Given the description of an element on the screen output the (x, y) to click on. 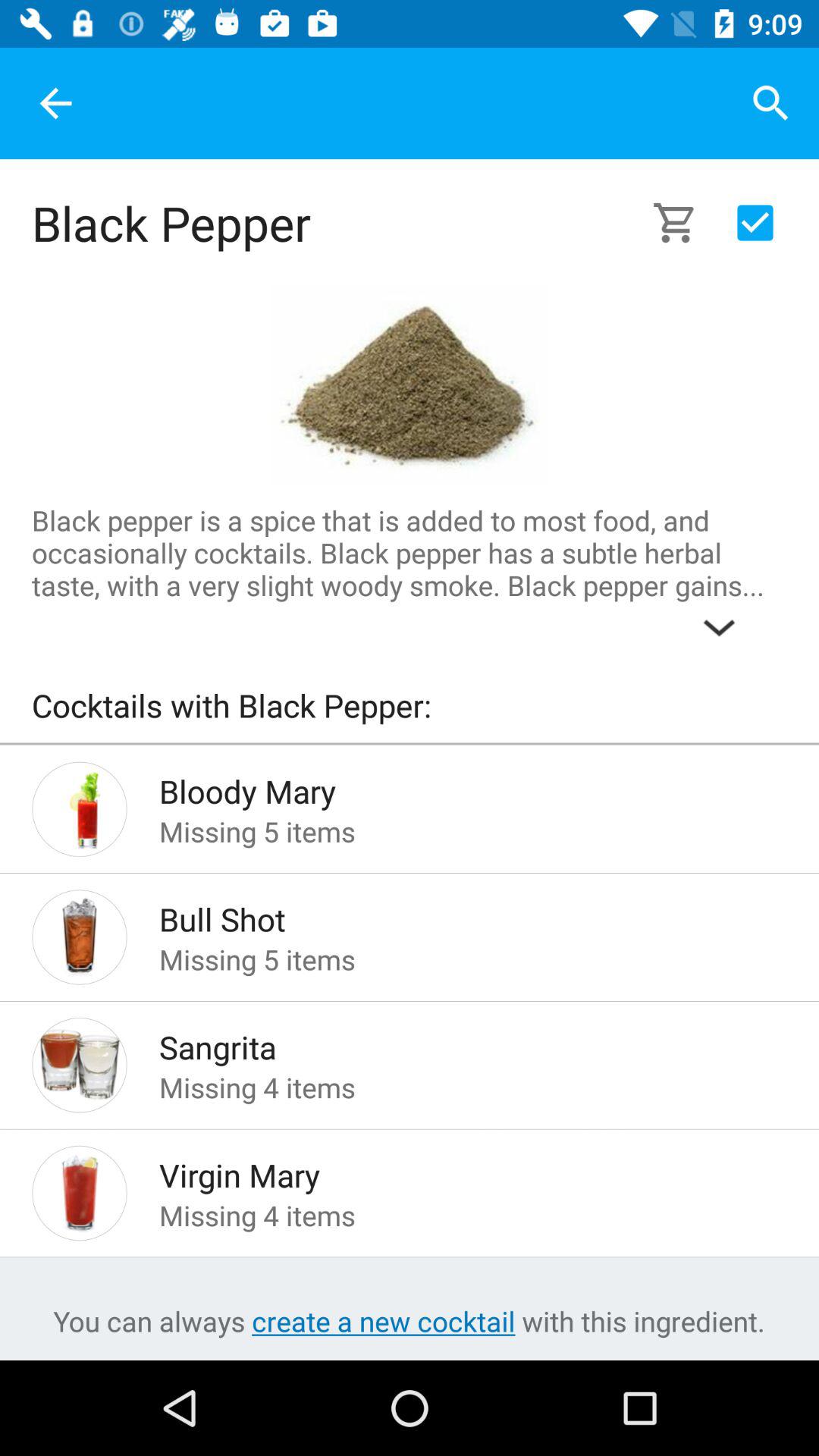
select the icon above the missing 4 items item (449, 1042)
